Given the description of an element on the screen output the (x, y) to click on. 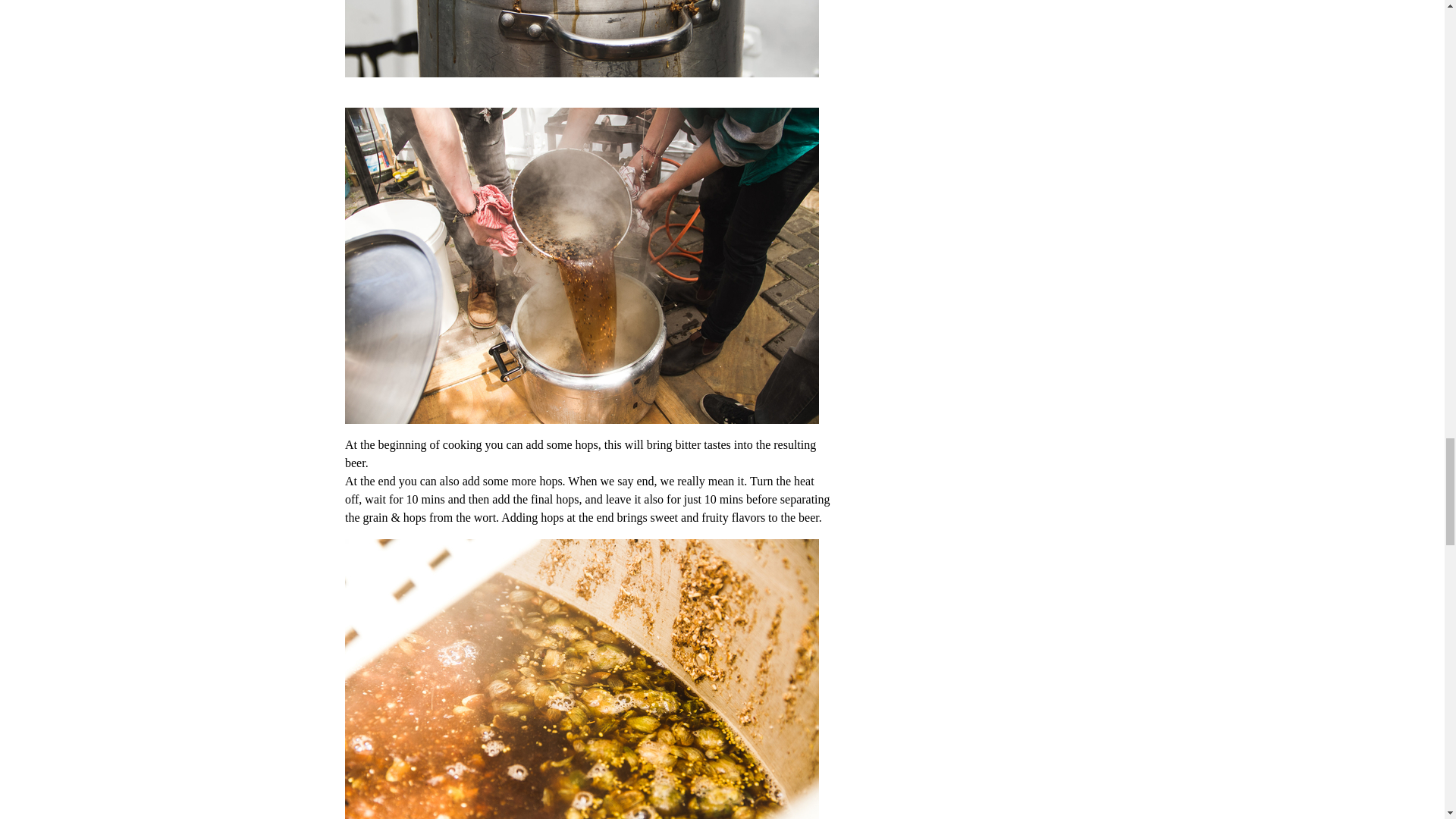
Brewing a stout beer (589, 38)
